Given the description of an element on the screen output the (x, y) to click on. 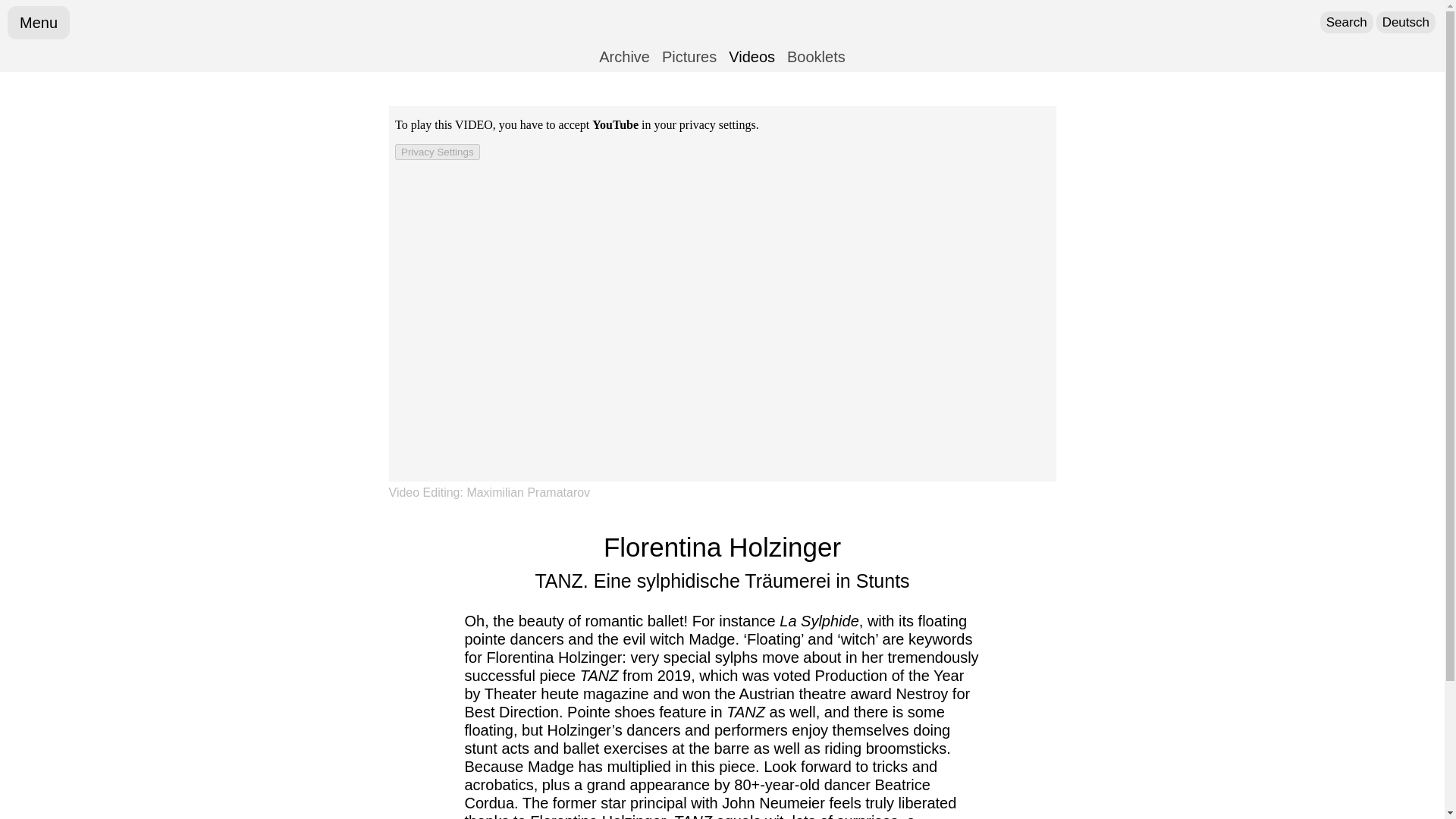
Menu (38, 22)
Search (1346, 22)
